Given the description of an element on the screen output the (x, y) to click on. 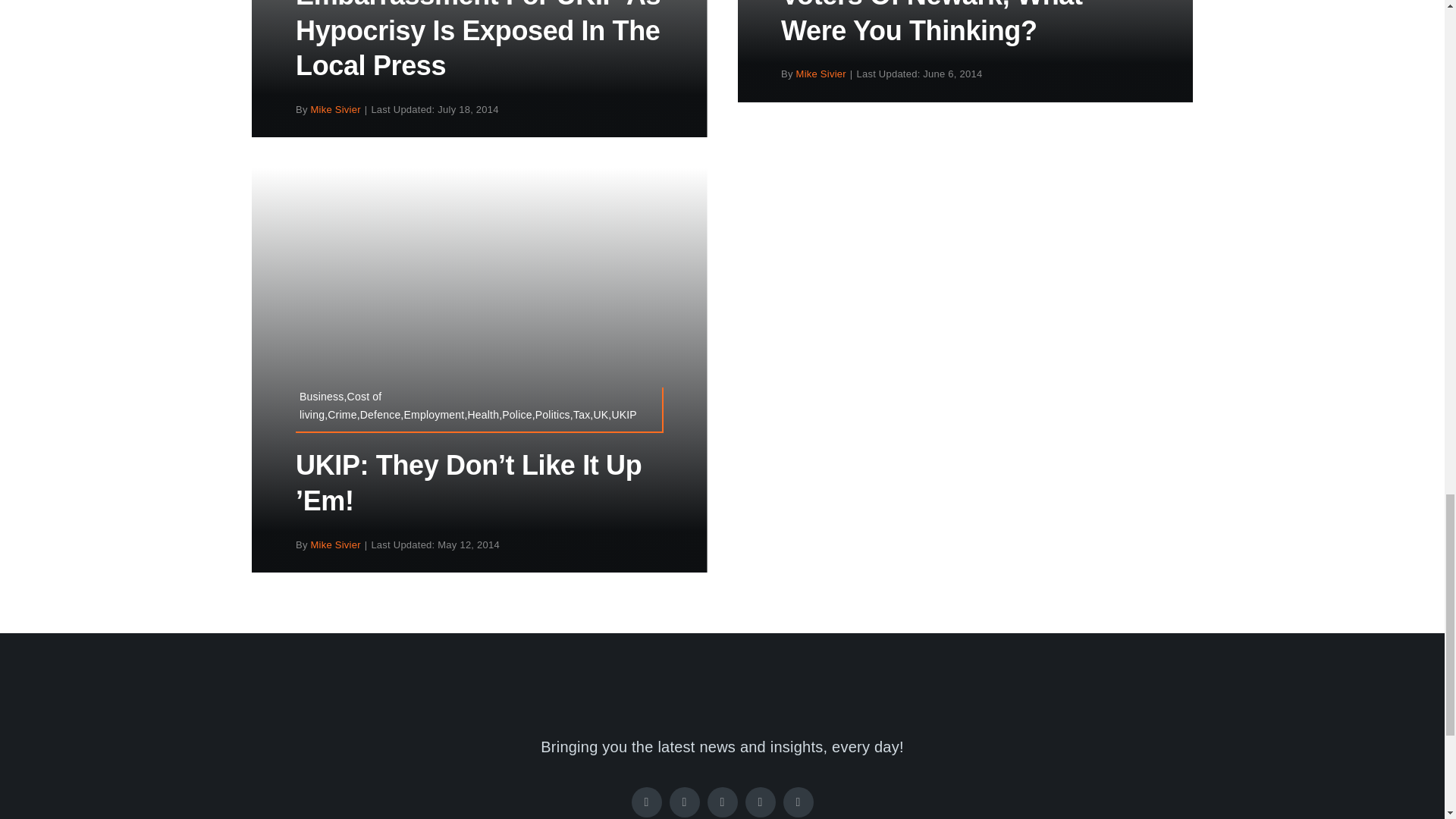
X (683, 802)
Facebook (645, 802)
Instagram (721, 802)
Posts by Mike Sivier (820, 73)
Mike Sivier (336, 109)
Posts by Mike Sivier (336, 544)
Mike Sivier (336, 544)
Posts by Mike Sivier (336, 109)
Mike Sivier (820, 73)
Tiktok (759, 802)
Voters Of Newark, What Were You Thinking? (931, 22)
